Given the description of an element on the screen output the (x, y) to click on. 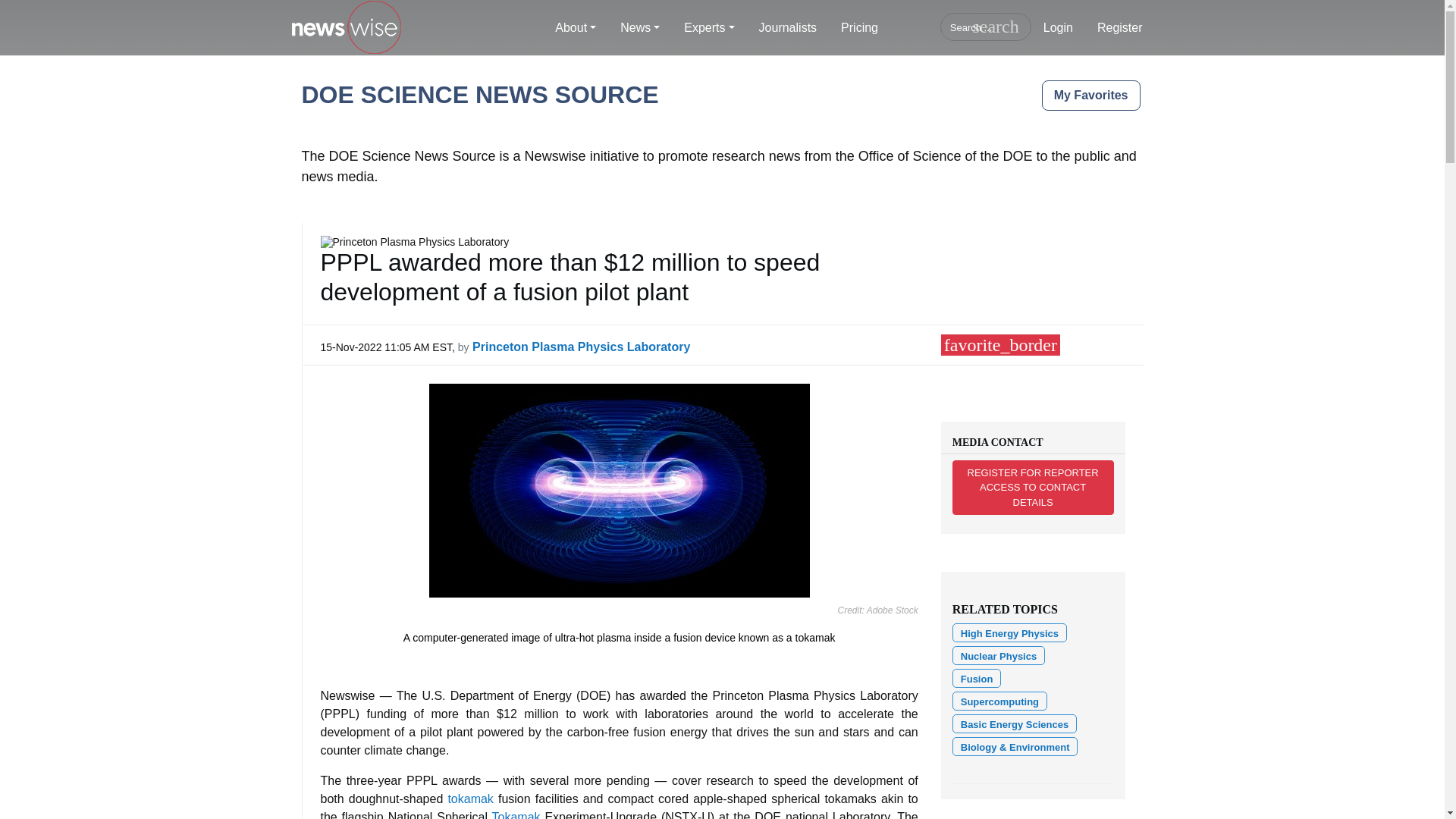
Newswise logo (345, 28)
News (639, 27)
Add to Favorites (999, 344)
About (575, 27)
View full image (619, 489)
